Given the description of an element on the screen output the (x, y) to click on. 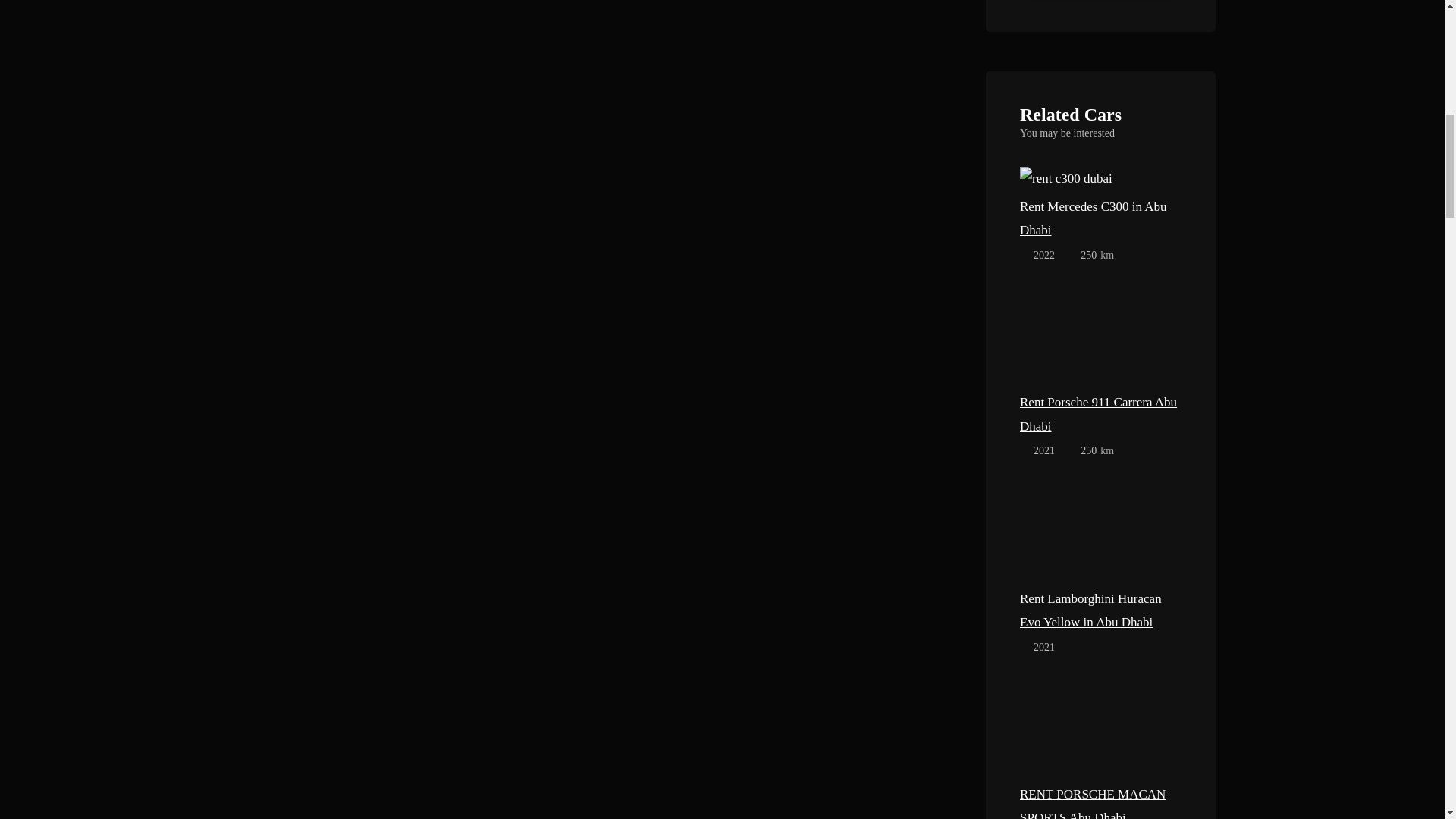
Rent Lamborghini Huracan Evo Yellow in Abu Dhabi (1100, 610)
RENT PORSCHE MACAN SPORTS Abu Dhabi (1100, 800)
Rent Mercedes C300 in Abu Dhabi (1066, 177)
Rent Lamborghini Huracan Evo Yellow in Abu Dhabi (1100, 532)
Rent Porsche 911 Carrera Abu Dhabi (1100, 336)
Rent Porsche 911 Carrera Abu Dhabi (1100, 414)
Rent Mercedes C300 in Abu Dhabi (1100, 218)
RENT PORSCHE MACAN SPORTS Abu Dhabi (1100, 728)
